Given the description of an element on the screen output the (x, y) to click on. 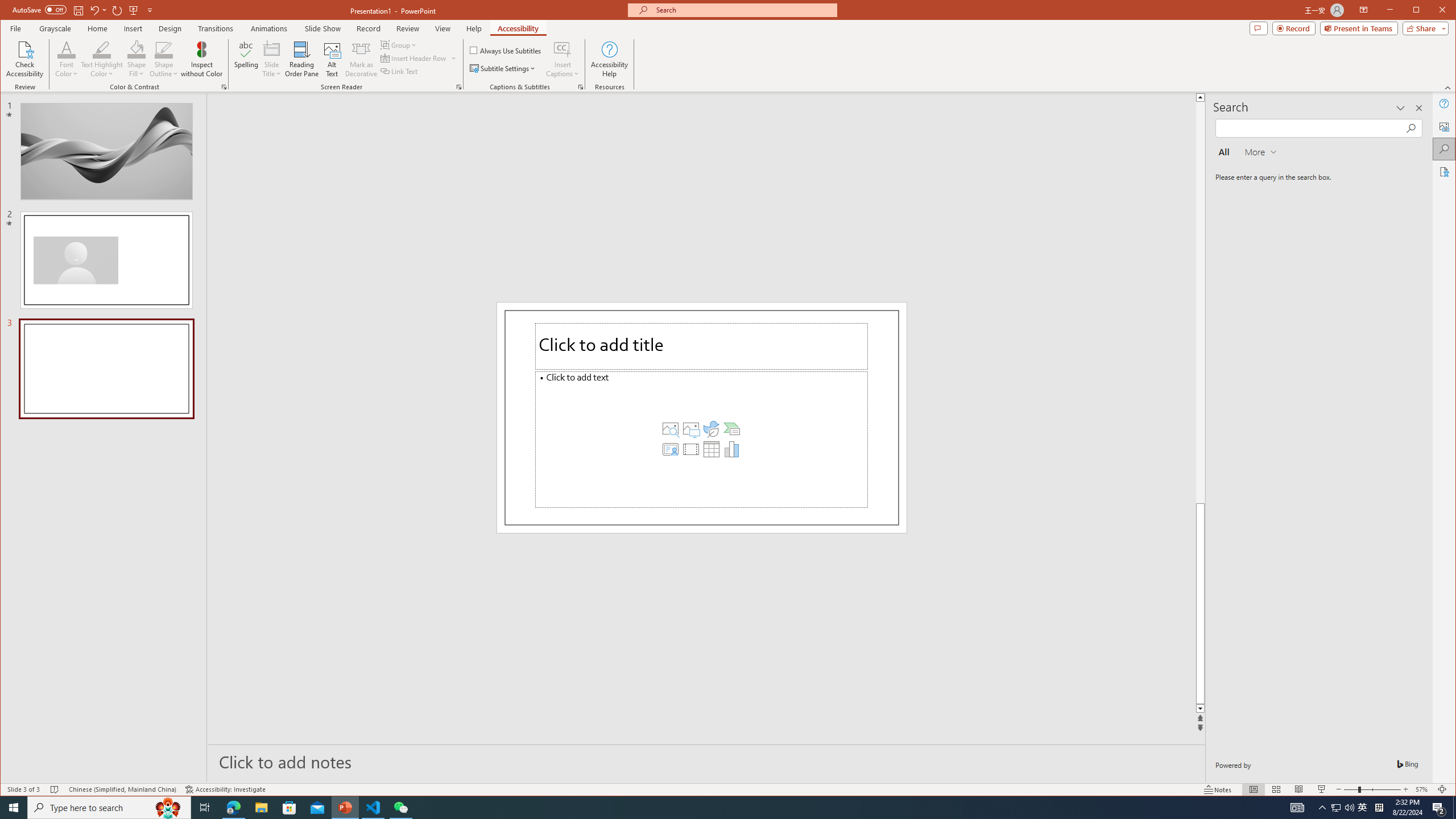
Shape Outline (163, 59)
Shape Fill (136, 59)
Insert a SmartArt Graphic (731, 428)
Screen Reader (458, 86)
Search highlights icon opens search home window (167, 807)
Font Color (66, 48)
Subtitle Settings (502, 68)
